Given the description of an element on the screen output the (x, y) to click on. 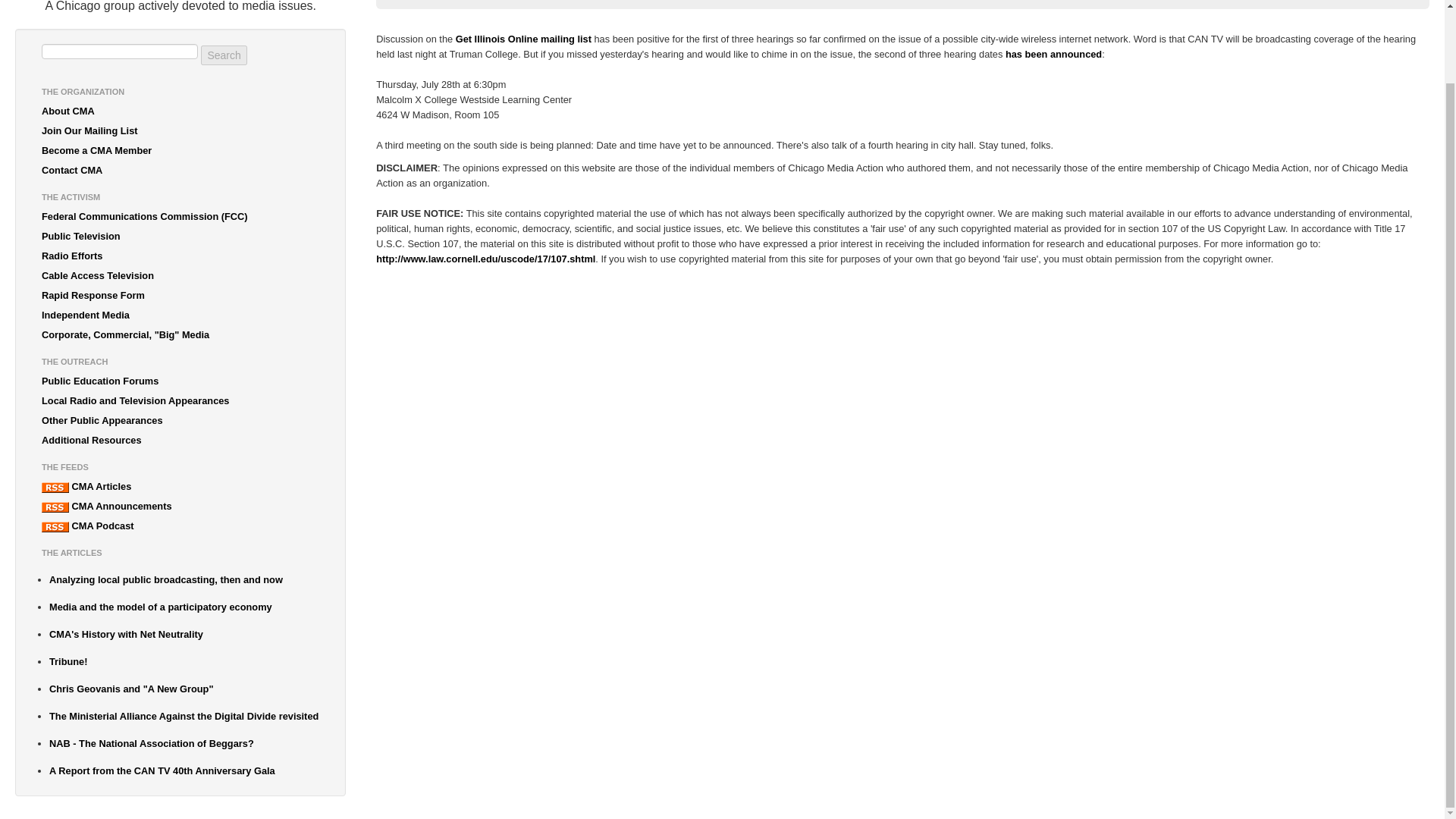
Become a CMA Member (180, 150)
Join Our Mailing List (180, 130)
Public Education Forums (180, 381)
NAB - The National Association of Beggars? (183, 743)
Other Public Appearances (180, 420)
A Report from the CAN TV 40th Anniversary Gala (183, 771)
Media and the model of a participatory economy (183, 607)
Contact CMA (180, 170)
Corporate, Commercial, "Big" Media (180, 334)
CMA's History with Net Neutrality (183, 634)
